Given the description of an element on the screen output the (x, y) to click on. 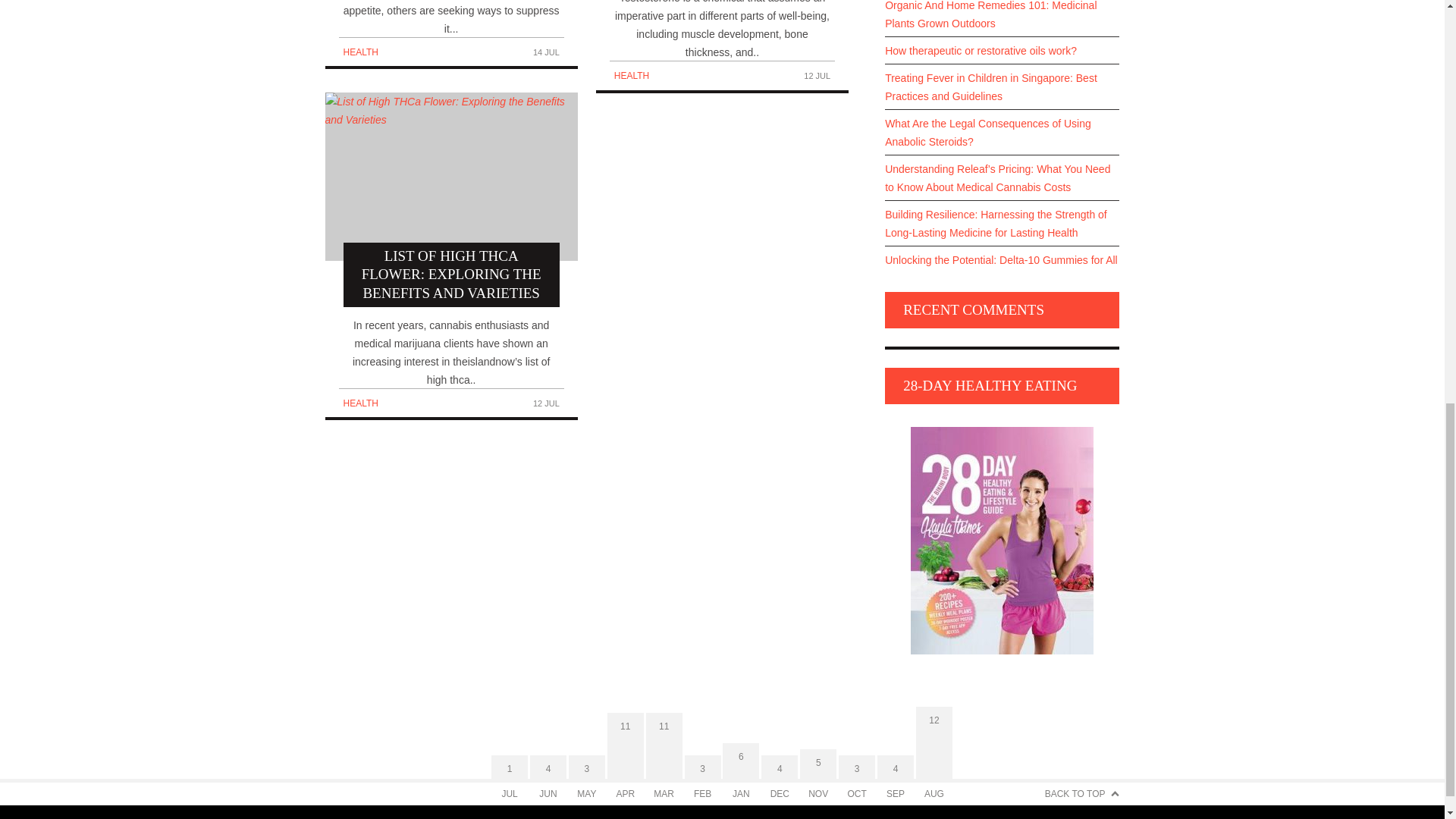
HEALTH (631, 75)
View all posts in Health (631, 75)
View all posts in Health (359, 403)
View all posts in Health (359, 51)
HEALTH (359, 403)
HEALTH (359, 51)
